Given the description of an element on the screen output the (x, y) to click on. 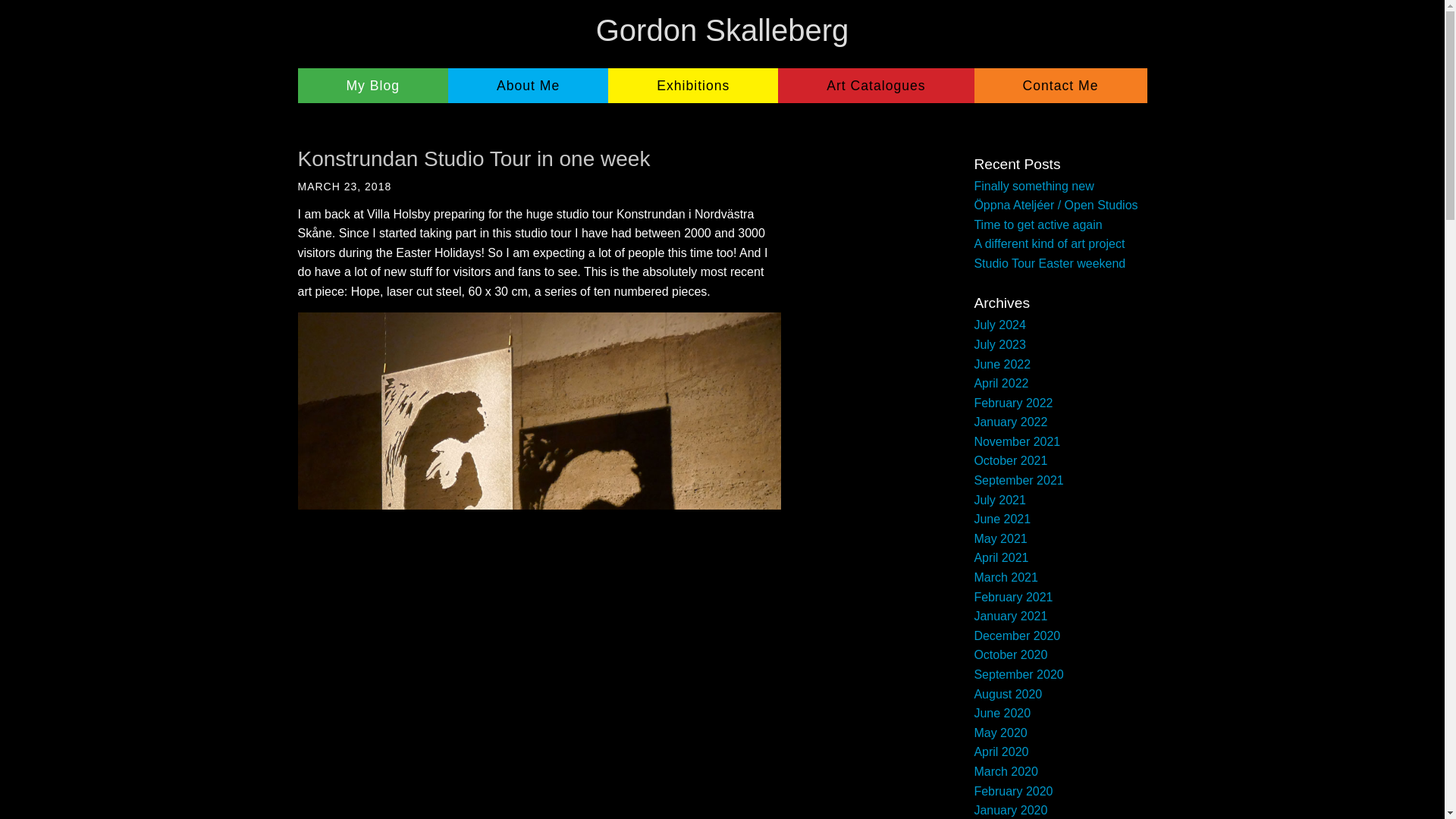
A different kind of art project (1049, 243)
Art Catalogues (875, 85)
February 2021 (1013, 596)
September 2021 (1018, 480)
Contact Me (1060, 85)
February 2022 (1013, 402)
October 2020 (1010, 654)
April 2021 (1000, 557)
May 2021 (1000, 538)
April 2022 (1000, 382)
